Given the description of an element on the screen output the (x, y) to click on. 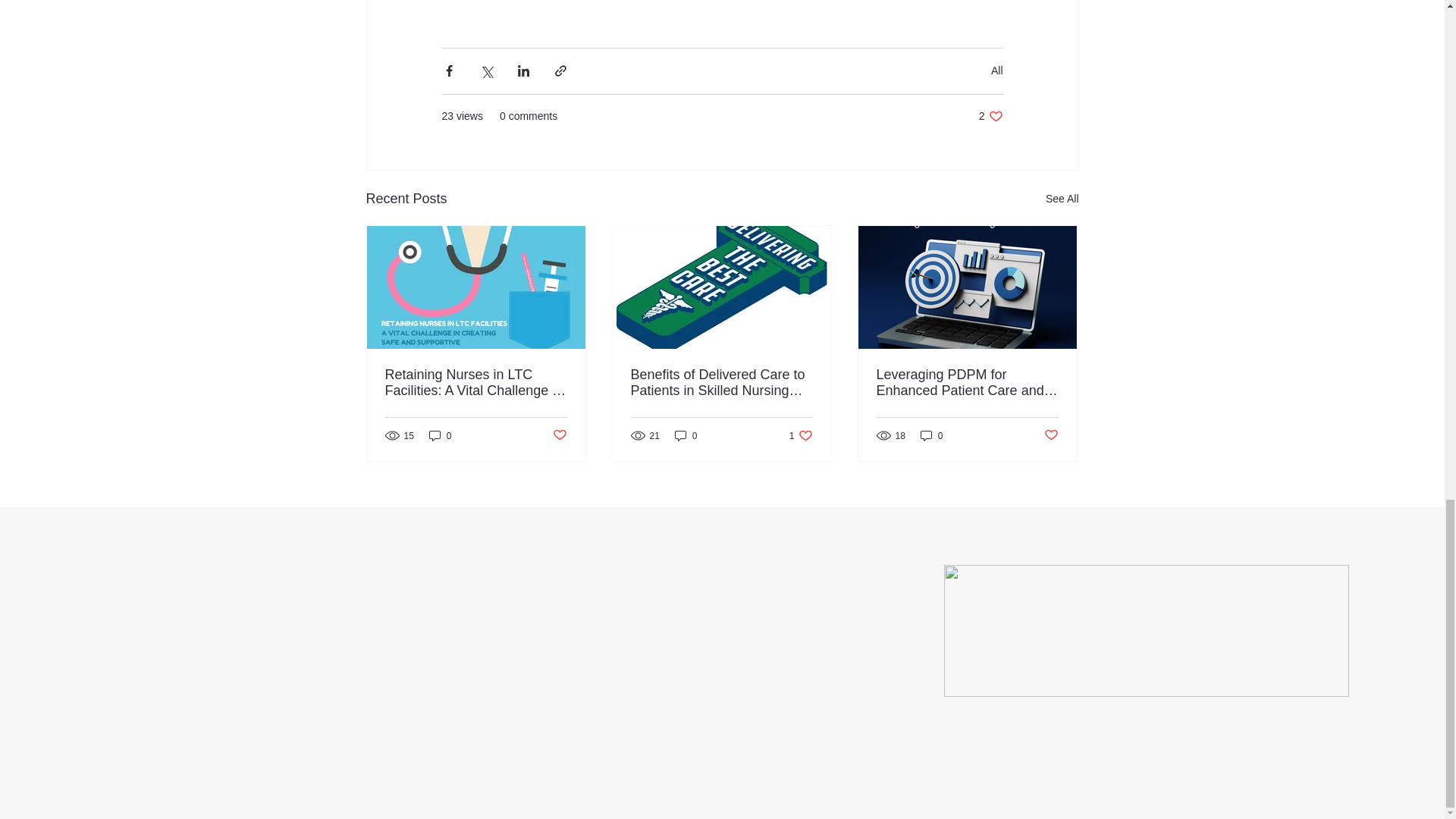
See All (1061, 198)
0 (685, 435)
0 (990, 115)
All (800, 435)
Post not marked as liked (440, 435)
